Given the description of an element on the screen output the (x, y) to click on. 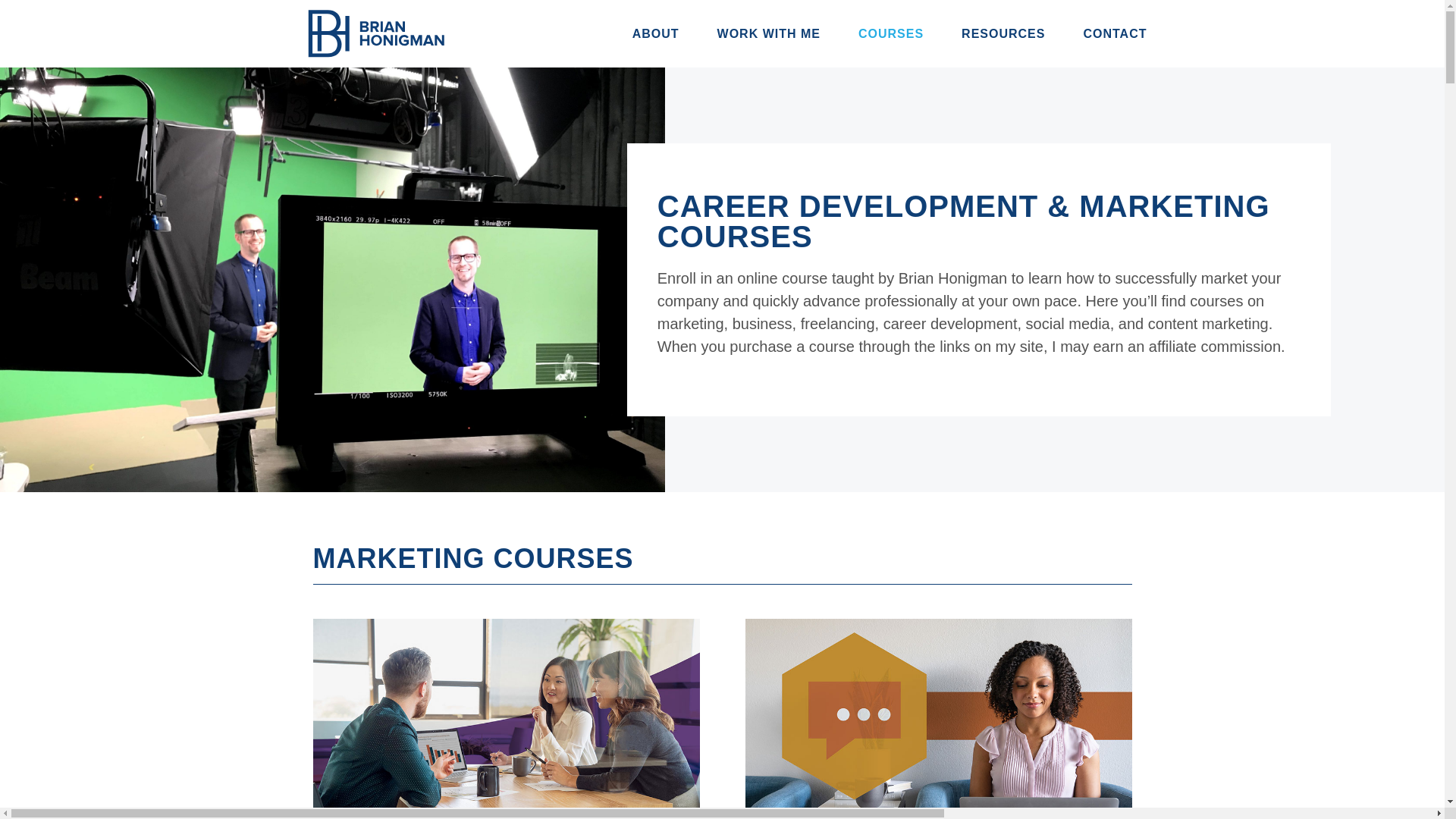
RESOURCES (1002, 33)
WORK WITH ME (769, 33)
CONTACT (1115, 33)
ABOUT (655, 33)
COURSES (891, 33)
